Given the description of an element on the screen output the (x, y) to click on. 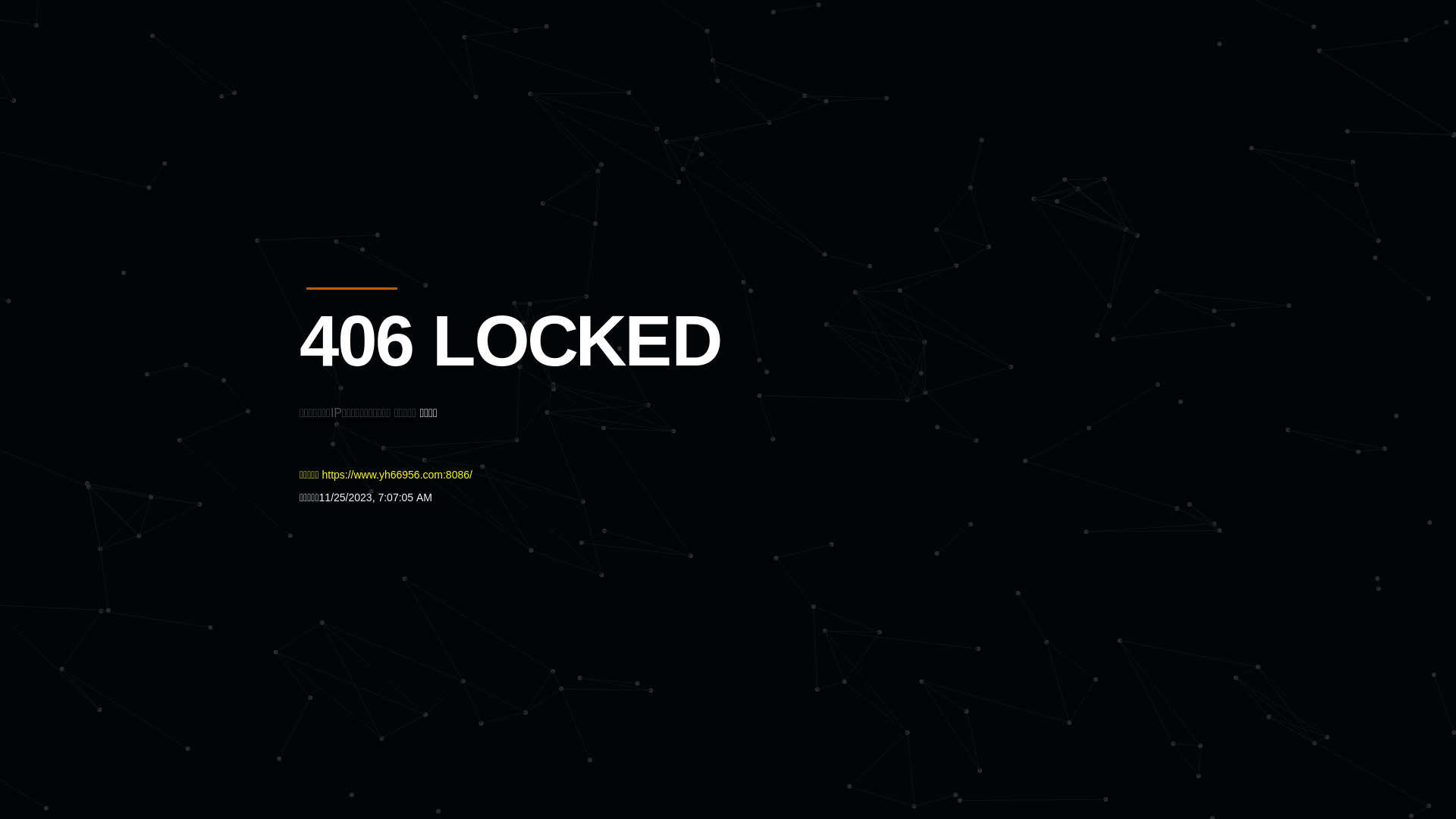
Quatro Element type: text (410, 86)
